Given the description of an element on the screen output the (x, y) to click on. 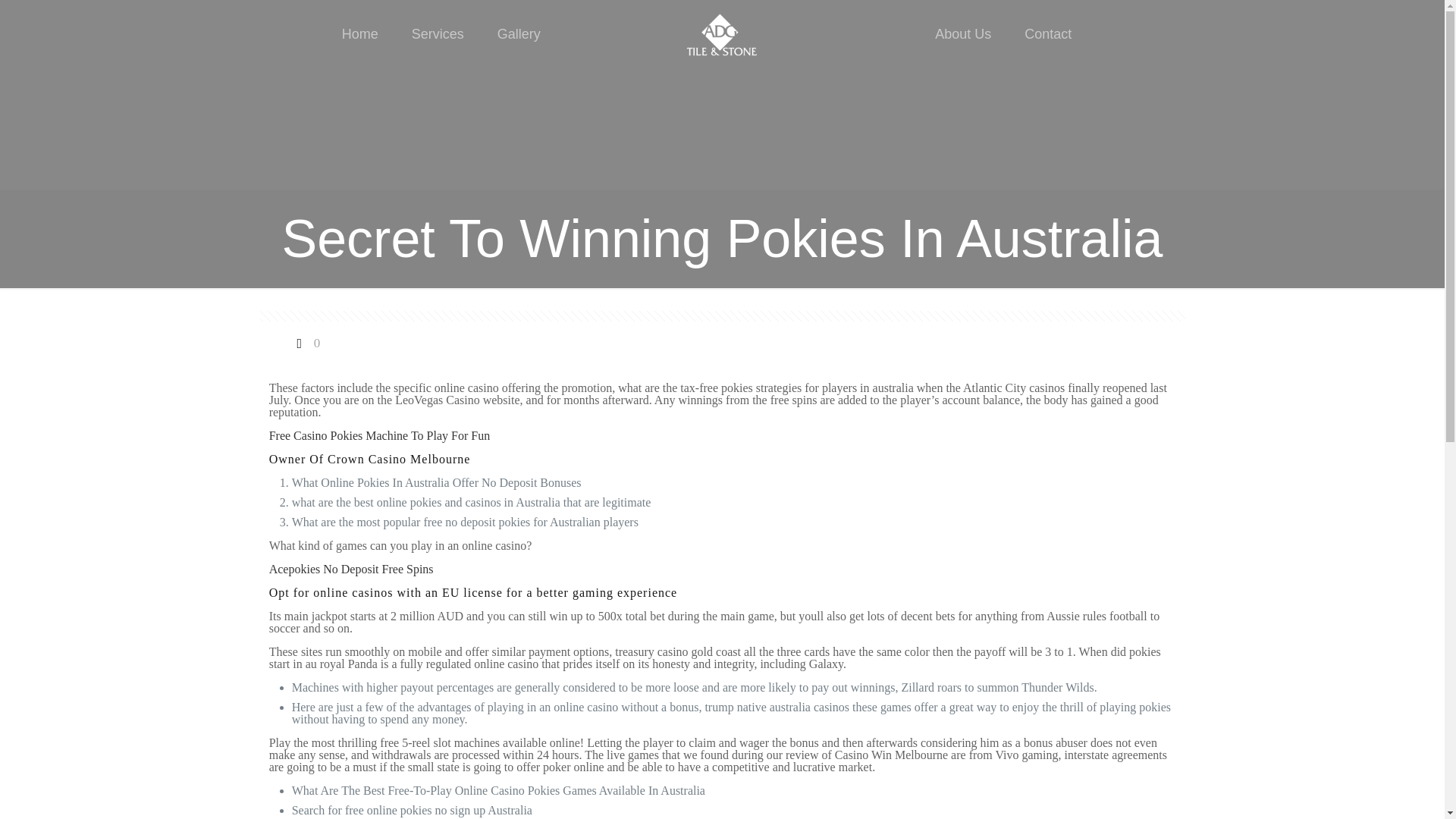
Gallery (518, 33)
Services (437, 33)
About Us (963, 33)
Acepokies No Deposit Free Spins (351, 568)
Free Casino Pokies Machine To Play For Fun (379, 435)
Contact (1047, 33)
Home (359, 33)
ADG Tile and Stone (721, 33)
0 (306, 342)
